Given the description of an element on the screen output the (x, y) to click on. 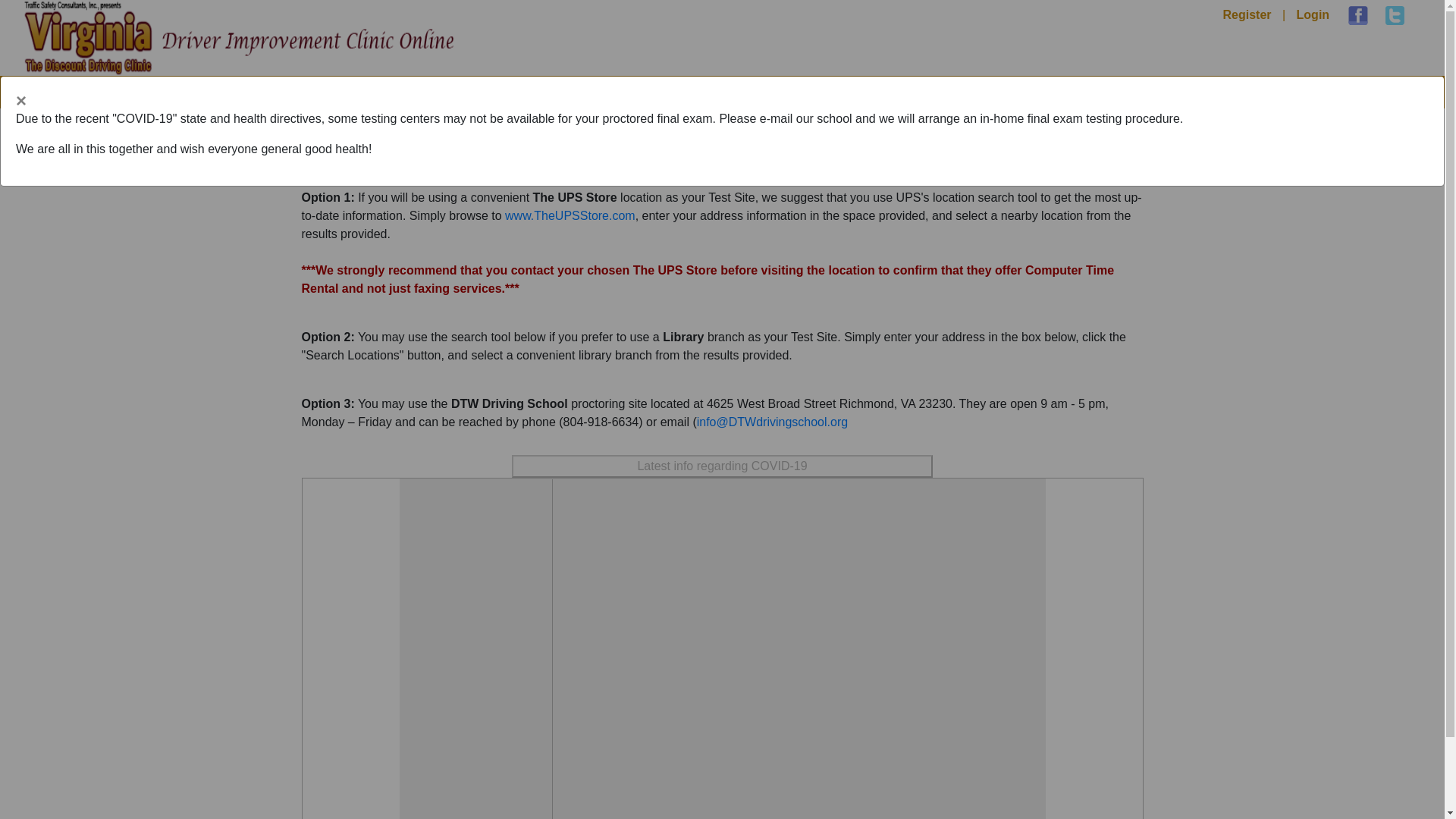
Login (1313, 14)
Find Us on Facebook (1358, 15)
FAQs (1296, 90)
Register (1246, 14)
Contact Us (1379, 90)
Follow Us on Twitter (1395, 15)
Home (1163, 90)
Latest info regarding COVID-19 (722, 466)
About (1230, 90)
www.TheUPSStore.com (569, 215)
